Given the description of an element on the screen output the (x, y) to click on. 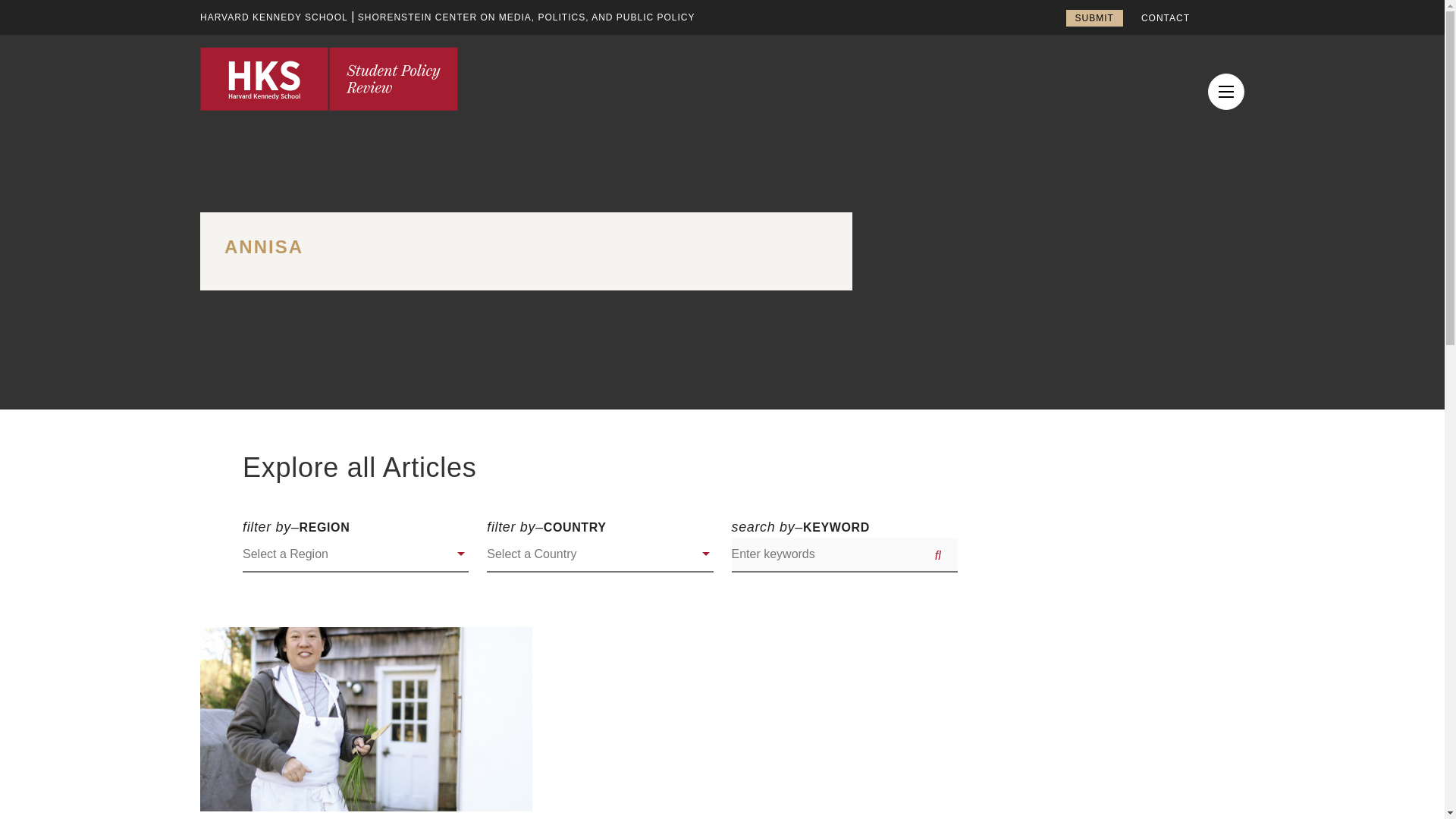
Harvard Kennedy School (273, 17)
Shorenstein Center on Media, Politics, and Public Policy (526, 17)
HARVARD KENNEDY SCHOOL (273, 17)
SHORENSTEIN CENTER ON MEDIA, POLITICS, AND PUBLIC POLICY (526, 17)
HKS Student Policy Review (329, 78)
SUBMIT (1093, 17)
CONTACT (1165, 18)
